Given the description of an element on the screen output the (x, y) to click on. 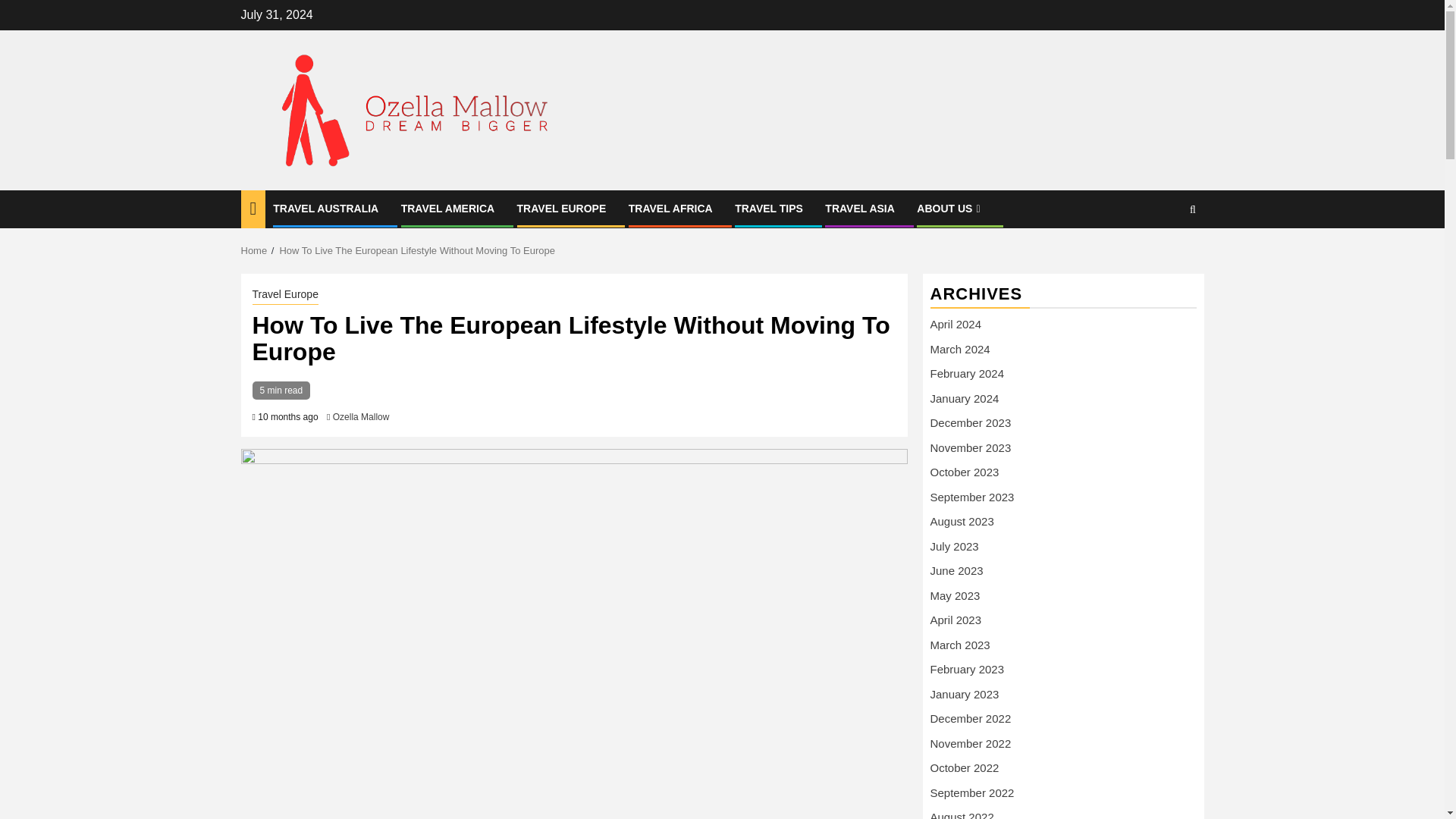
February 2024 (967, 373)
TRAVEL AMERICA (448, 208)
TRAVEL TIPS (769, 208)
Search (1163, 256)
TRAVEL EUROPE (561, 208)
TRAVEL AUSTRALIA (325, 208)
ABOUT US (950, 208)
March 2024 (960, 349)
How To Live The European Lifestyle Without Moving To Europe (416, 250)
Ozella Mallow (361, 416)
Travel Europe (284, 295)
TRAVEL ASIA (860, 208)
Home (254, 250)
April 2024 (955, 323)
TRAVEL AFRICA (670, 208)
